Given the description of an element on the screen output the (x, y) to click on. 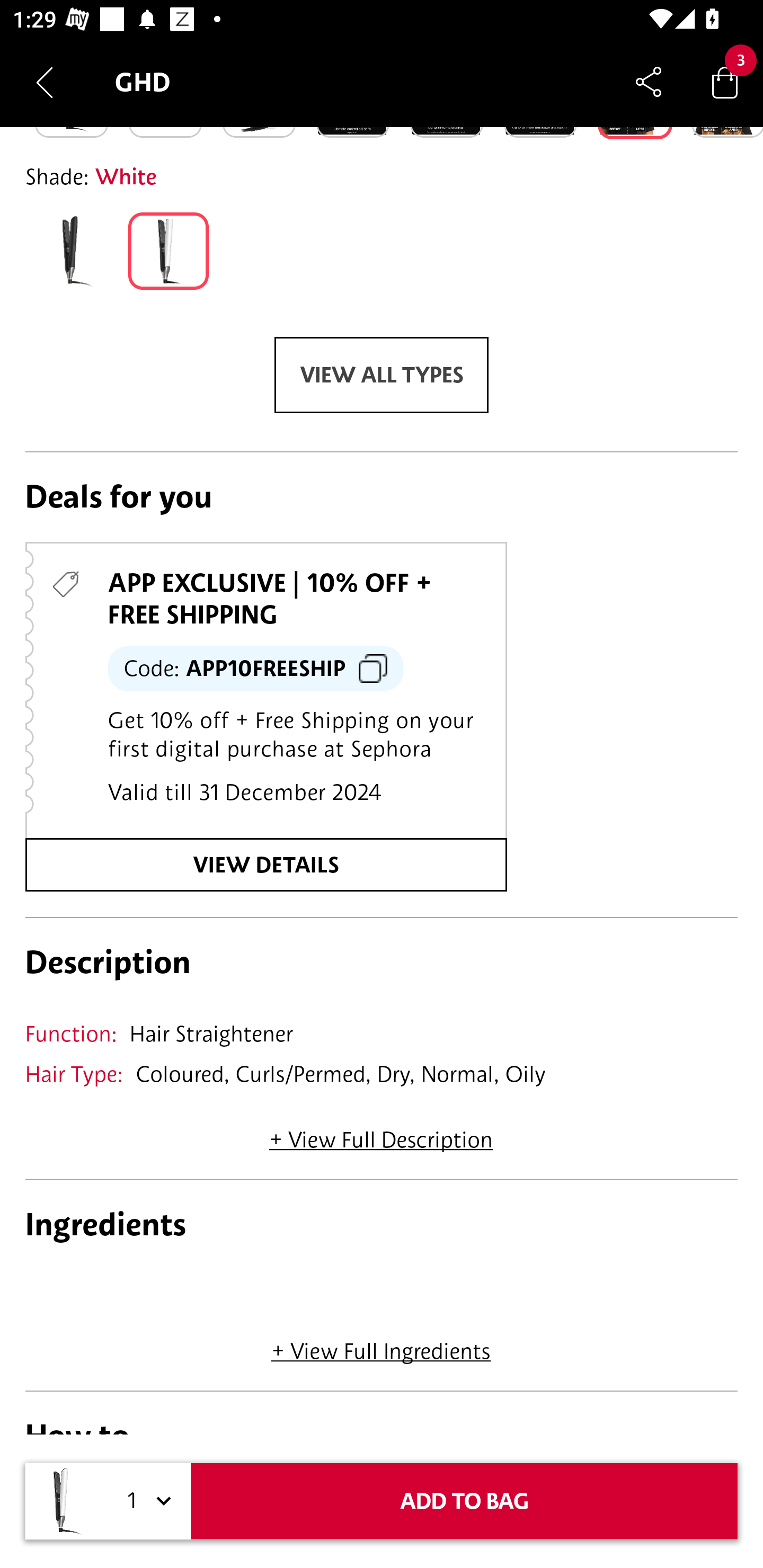
Navigate up (44, 82)
Share (648, 81)
Bag (724, 81)
VIEW ALL TYPES (381, 375)
VIEW DETAILS (266, 864)
+ View Full Description (380, 1133)
1 (145, 1500)
ADD TO BAG (463, 1500)
